Given the description of an element on the screen output the (x, y) to click on. 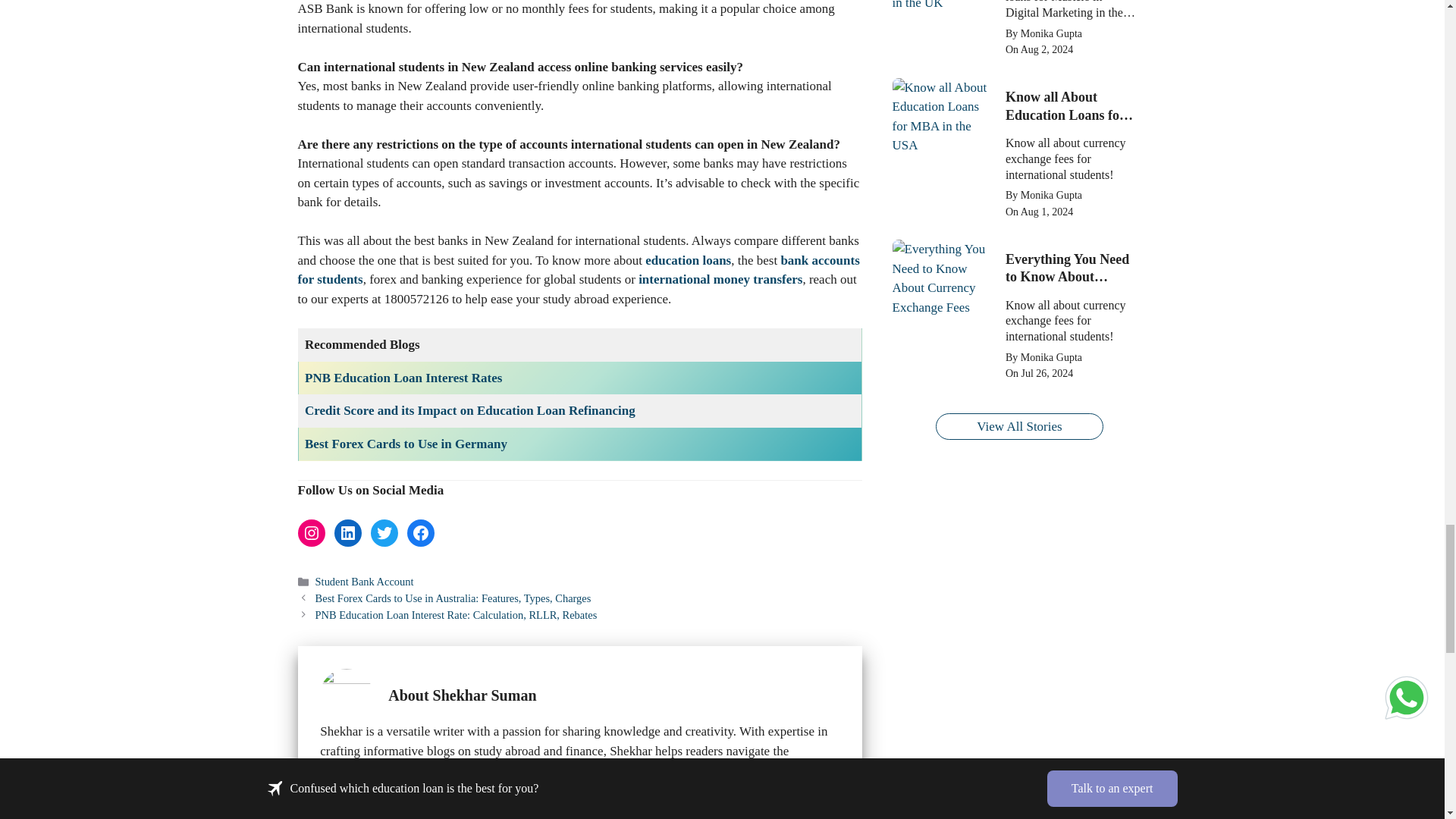
international money transfers (720, 278)
education loans (687, 260)
bank accounts for students (578, 270)
PNB Education Loan Interest Rates (403, 377)
